Given the description of an element on the screen output the (x, y) to click on. 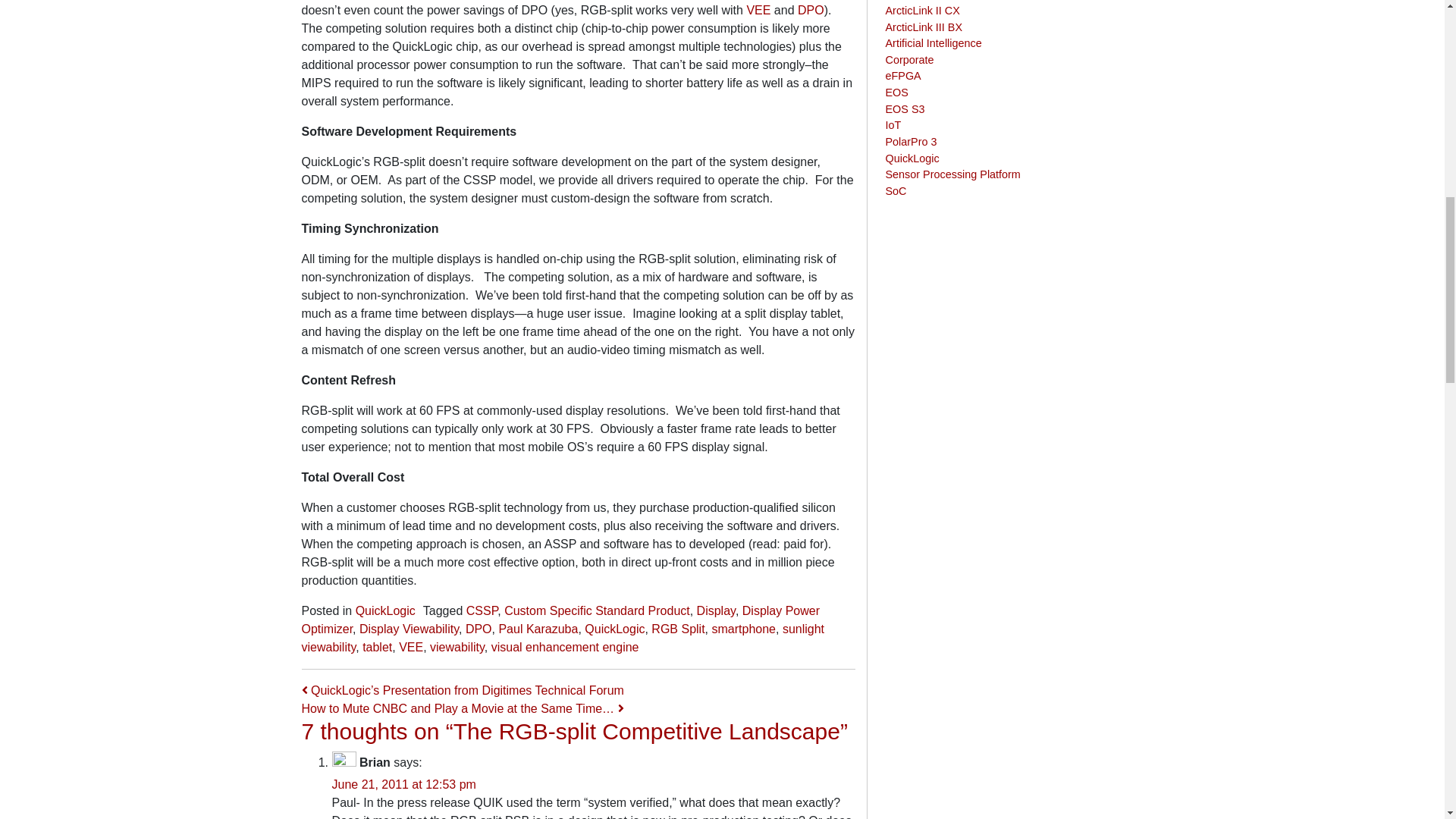
Custom Specific Standard Product (596, 610)
viewability (456, 646)
QuickLogic (615, 628)
VEE (410, 646)
tablet (376, 646)
DPO (478, 628)
smartphone (743, 628)
visual enhancement engine (565, 646)
VEE (757, 10)
RGB Split (677, 628)
June 21, 2011 at 12:53 pm (403, 784)
Display Viewability (408, 628)
Paul Karazuba (537, 628)
Display Power Optimizer (561, 619)
sunlight viewability (563, 637)
